Given the description of an element on the screen output the (x, y) to click on. 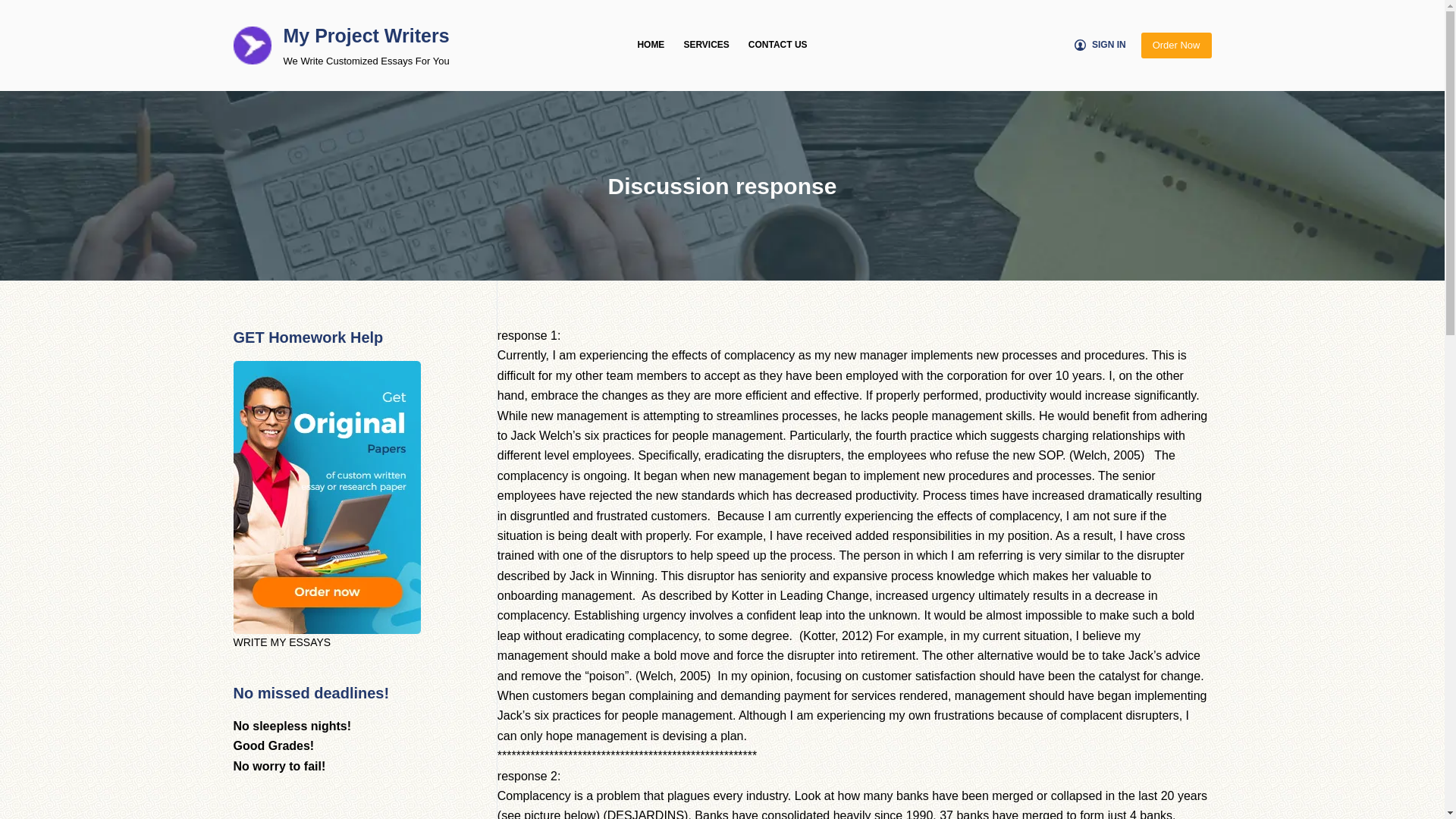
Skip to content (15, 7)
Discussion response (722, 185)
Order Now (1176, 45)
SIGN IN (1099, 45)
My Project Writers (366, 35)
